Given the description of an element on the screen output the (x, y) to click on. 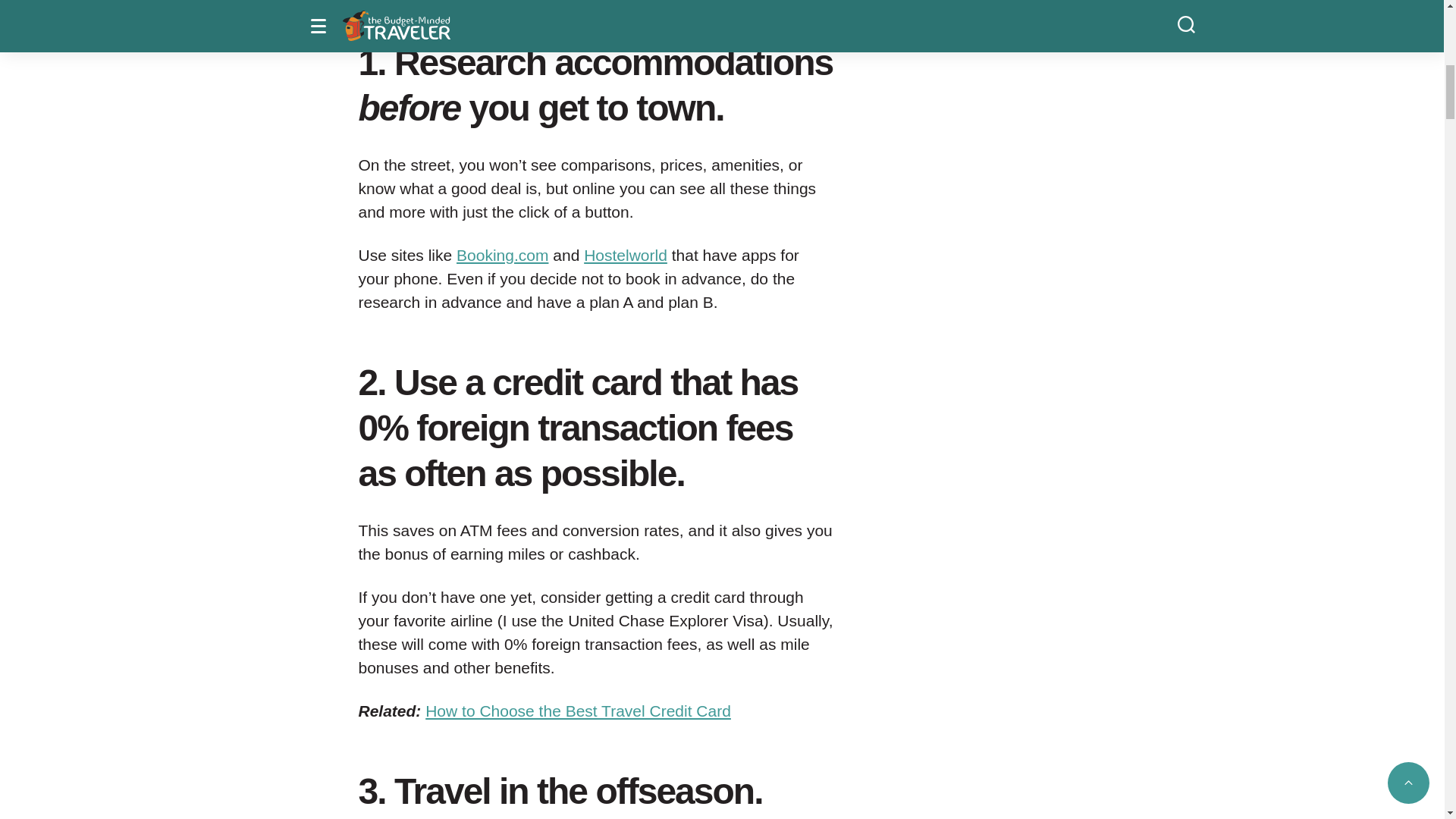
Booking.com (502, 254)
How to Choose the Best Travel Credit Card (577, 710)
Hostelworld (624, 254)
